Given the description of an element on the screen output the (x, y) to click on. 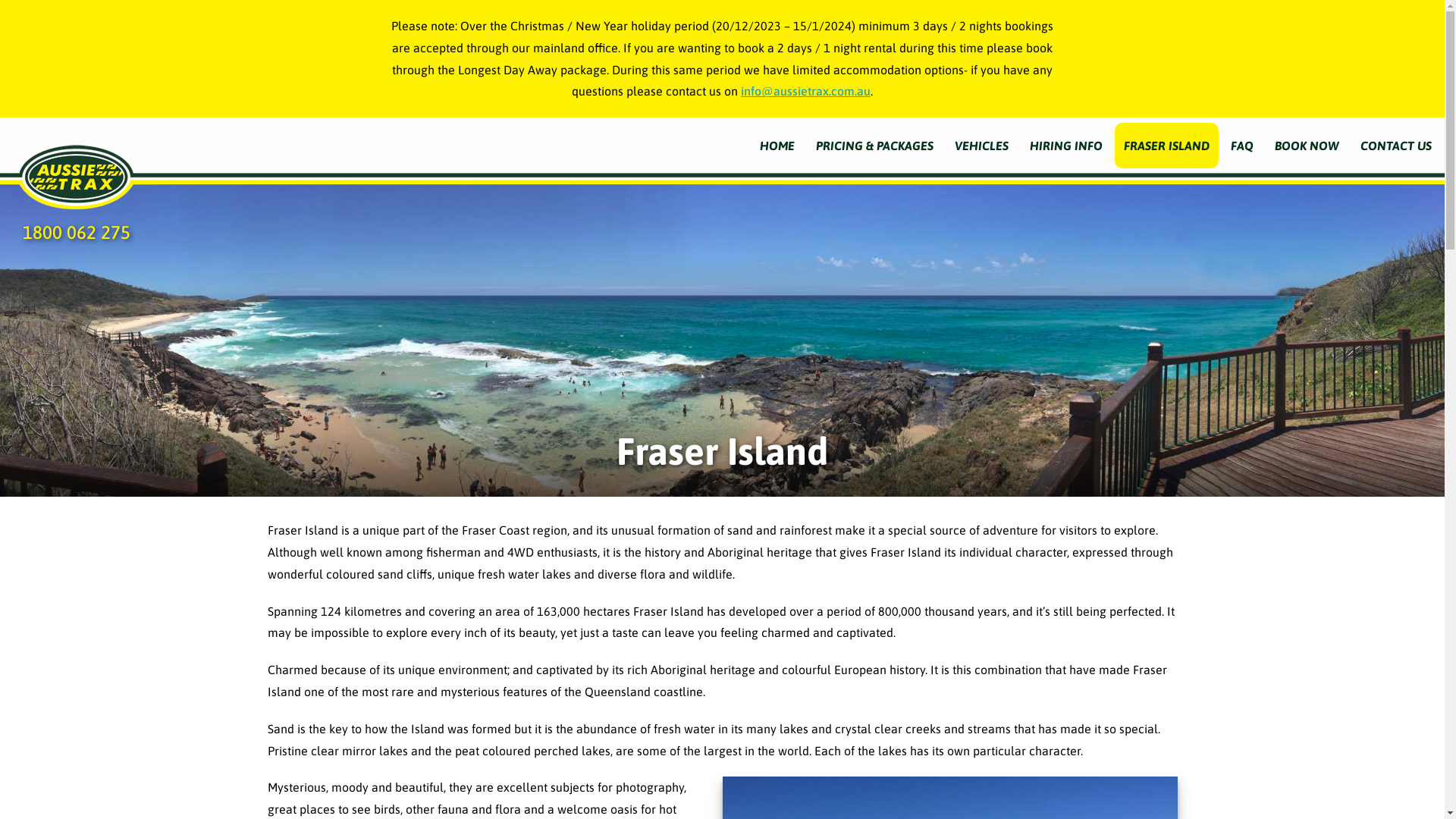
HIRING INFO Element type: text (1065, 145)
FAQ Element type: text (1241, 145)
1800 062 275 Element type: text (76, 232)
VEHICLES Element type: text (981, 145)
HOME Element type: text (776, 145)
FRASER ISLAND Element type: text (1166, 145)
CONTACT US Element type: text (1395, 145)
PRICING & PACKAGES Element type: text (874, 145)
BOOK NOW Element type: text (1306, 145)
info@aussietrax.com.au Element type: text (805, 90)
